Given the description of an element on the screen output the (x, y) to click on. 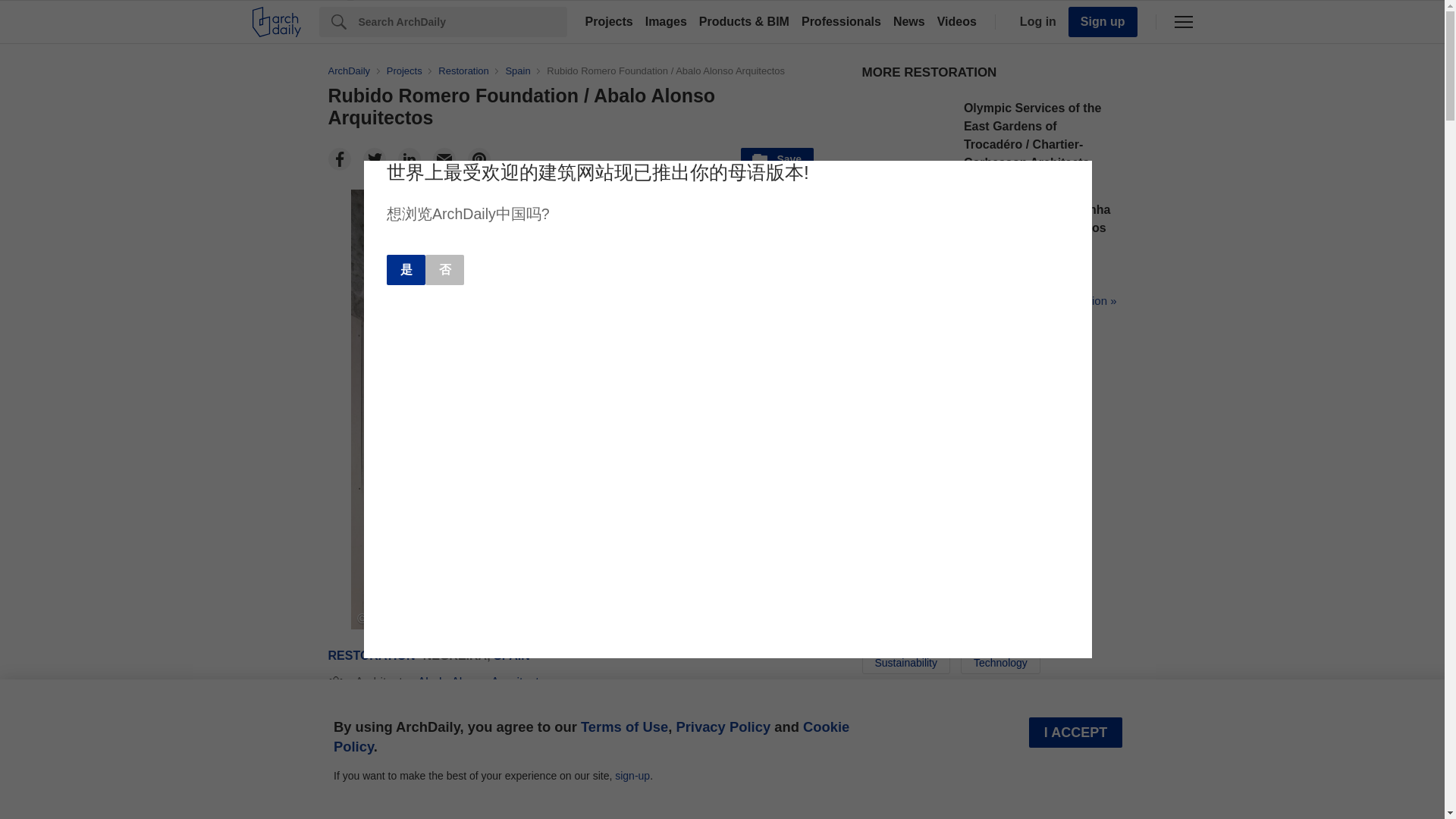
Log in (1035, 21)
Videos (956, 21)
News (908, 21)
Professionals (840, 21)
Projects (609, 21)
Sign up (1102, 21)
Images (666, 21)
